Given the description of an element on the screen output the (x, y) to click on. 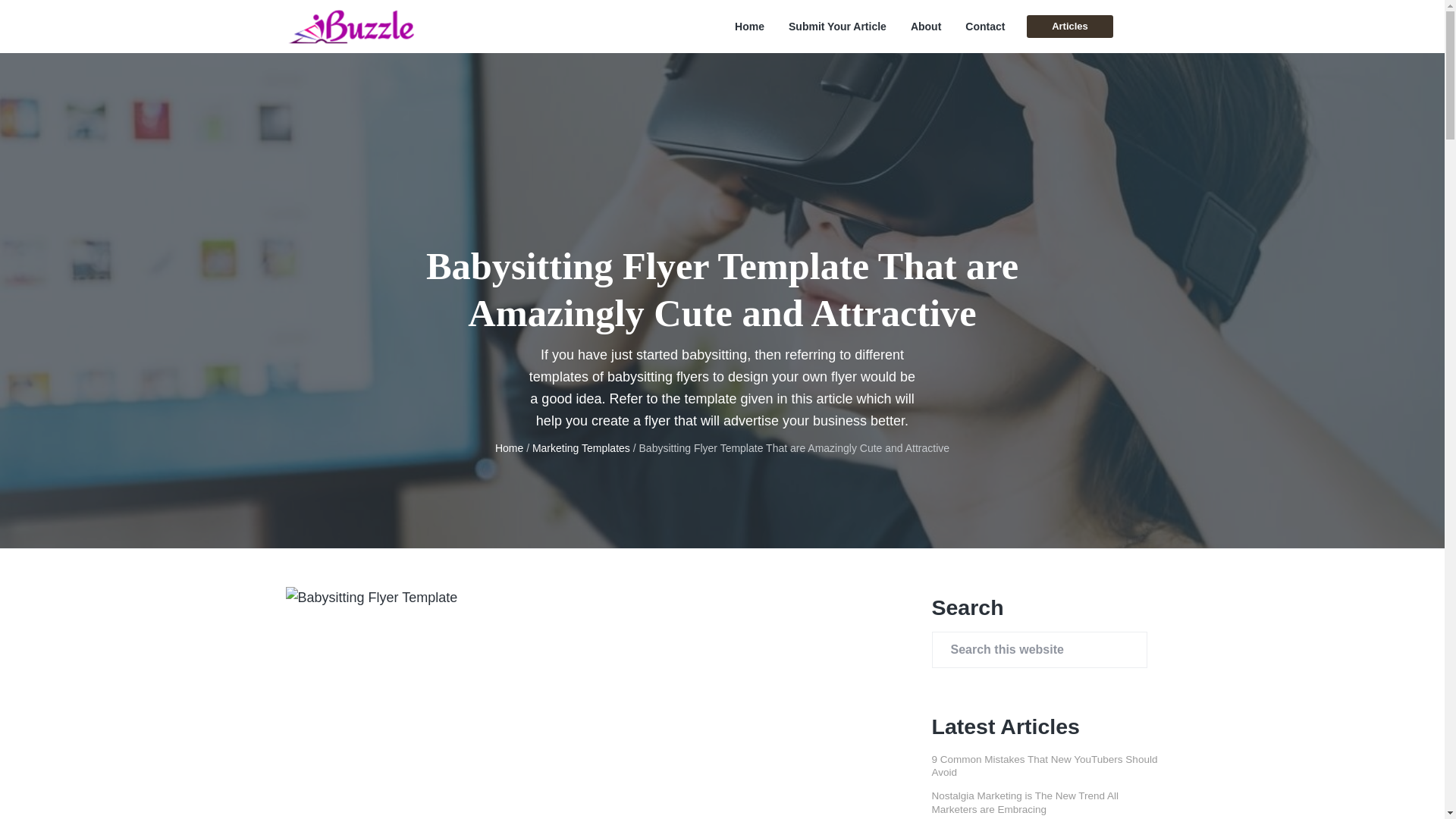
Contact (984, 27)
About (925, 27)
Home (508, 448)
Marketing Templates (581, 448)
Submit Your Article (837, 27)
Home (749, 27)
Articles (1068, 25)
Search (60, 18)
